Given the description of an element on the screen output the (x, y) to click on. 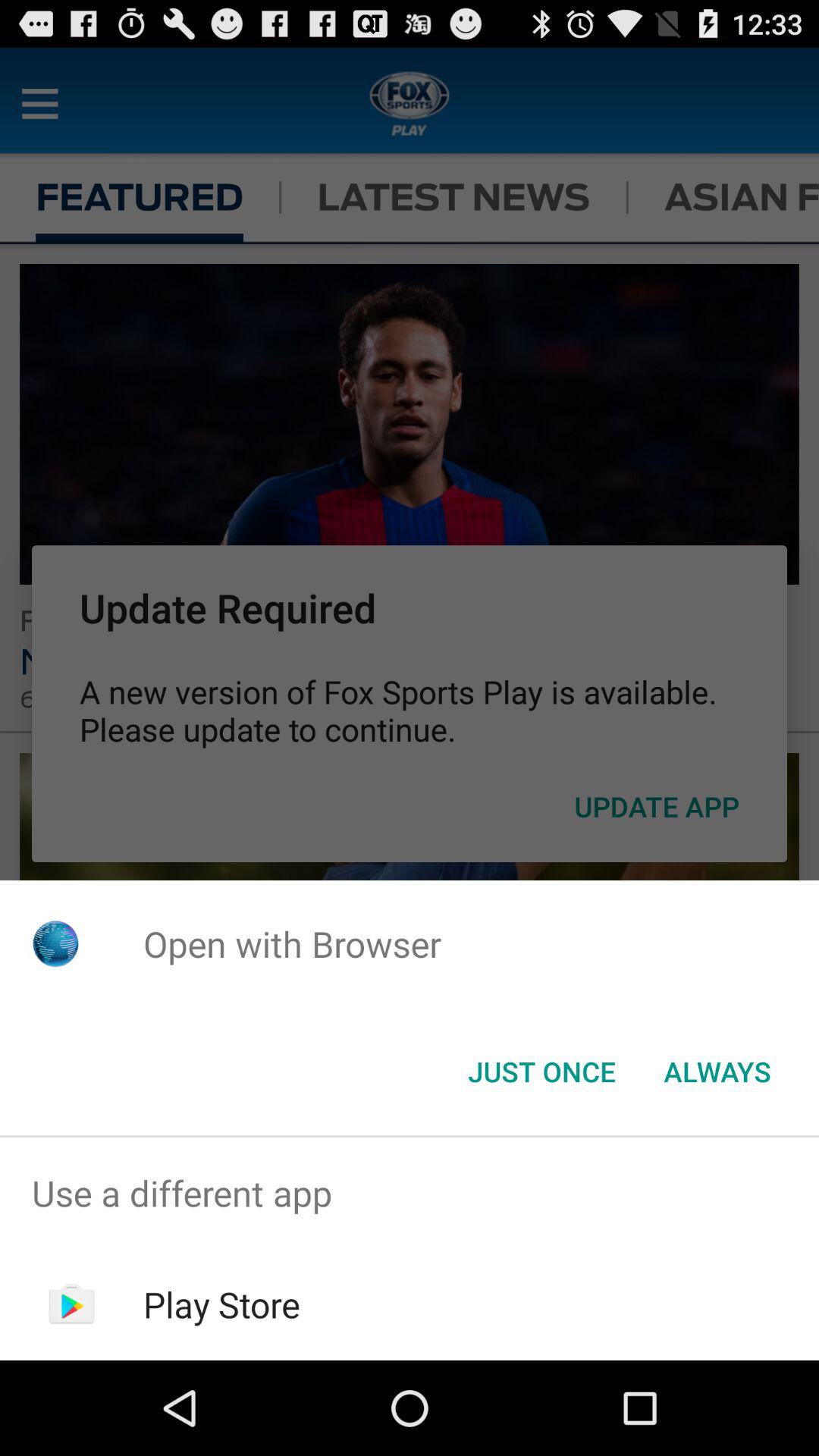
click always at the bottom right corner (717, 1071)
